Given the description of an element on the screen output the (x, y) to click on. 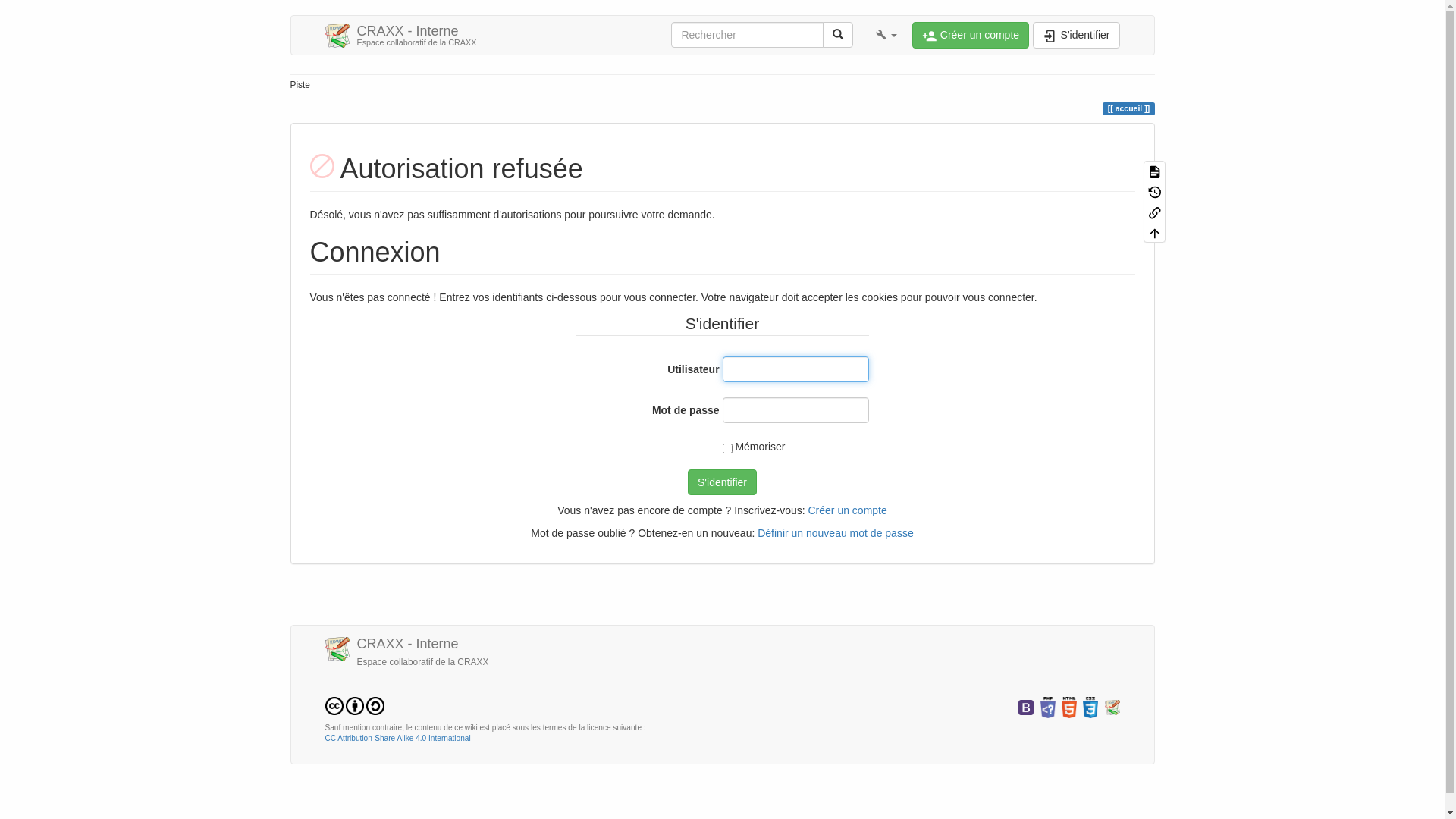
[F] Element type: hover (747, 34)
Rechercher Element type: hover (837, 34)
Valid CSS Element type: hover (1090, 706)
CRAXX - Interne
Espace collaboratif de la CRAXX Element type: text (400, 34)
Powered by PHP Element type: hover (1047, 706)
Driven by DokuWiki Element type: hover (1111, 706)
S'identifier Element type: text (1075, 34)
S'identifier Element type: text (721, 482)
CC Attribution-Share Alike 4.0 International Element type: hover (354, 704)
Haut de page [t] Element type: hover (1153, 231)
Bootstrap template for DokuWiki Element type: hover (1025, 706)
Valid HTML5 Element type: hover (1068, 706)
Afficher la page [v] Element type: hover (1153, 170)
CC Attribution-Share Alike 4.0 International Element type: text (397, 738)
Liens de retour Element type: hover (1153, 211)
